Given the description of an element on the screen output the (x, y) to click on. 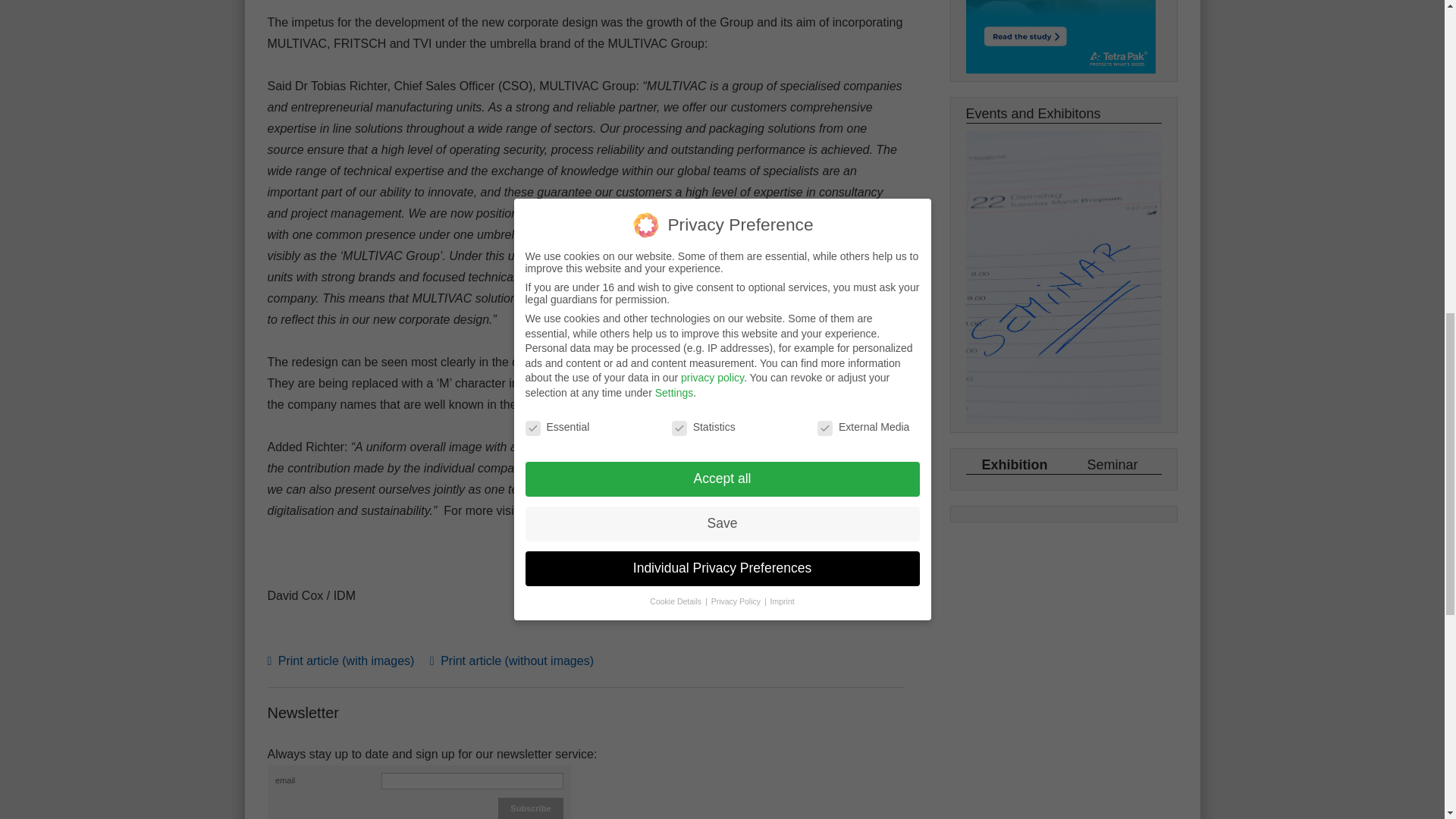
multivac.com (556, 510)
